Given the description of an element on the screen output the (x, y) to click on. 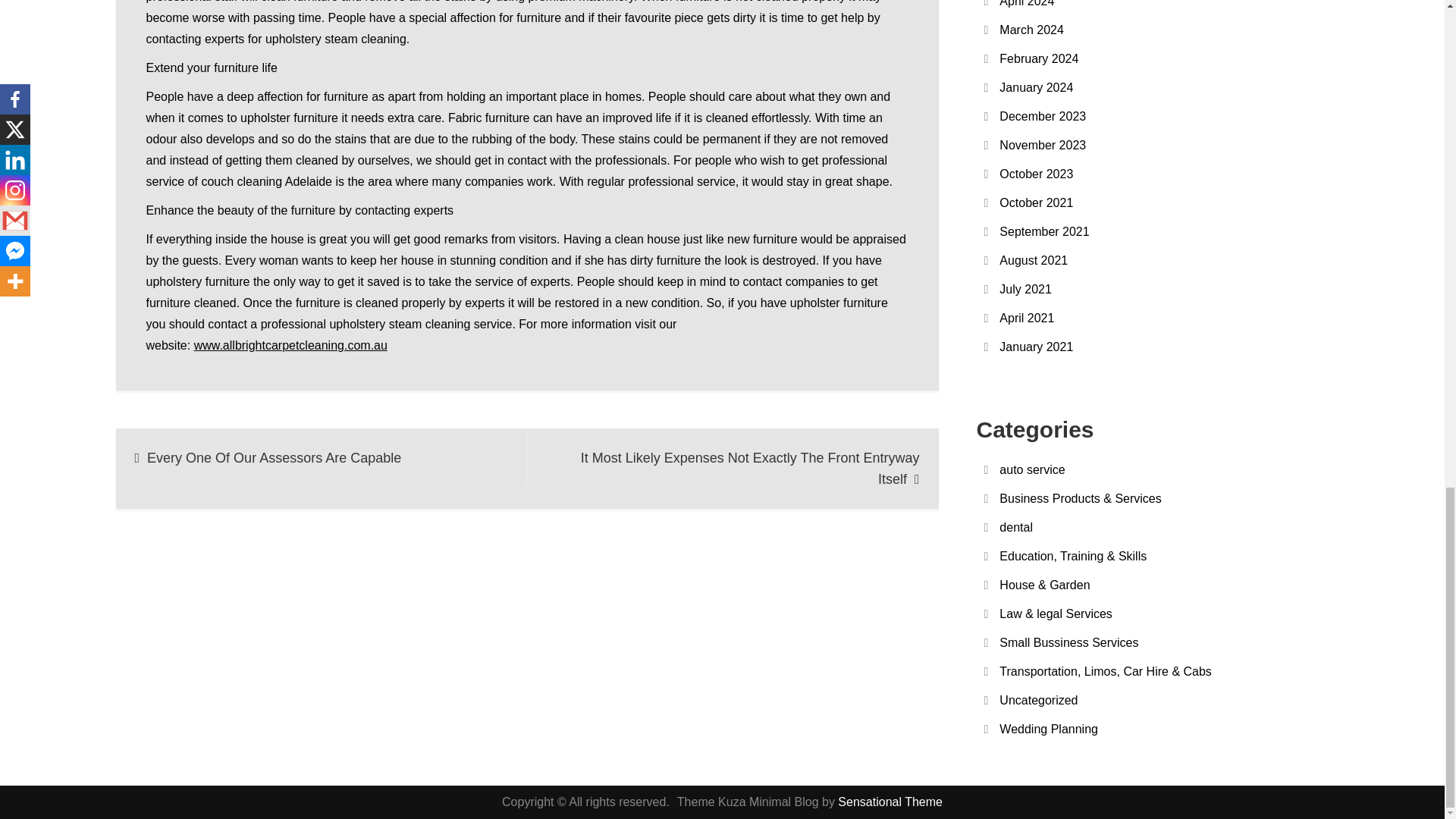
February 2024 (1038, 58)
January 2024 (1035, 87)
www.allbrightcarpetcleaning.com.au (290, 345)
April 2024 (1026, 3)
December 2023 (1042, 115)
March 2024 (1031, 29)
www.allbrightcarpetcleaning.com.au (290, 345)
Every One Of Our Assessors Are Capable (321, 457)
